Given the description of an element on the screen output the (x, y) to click on. 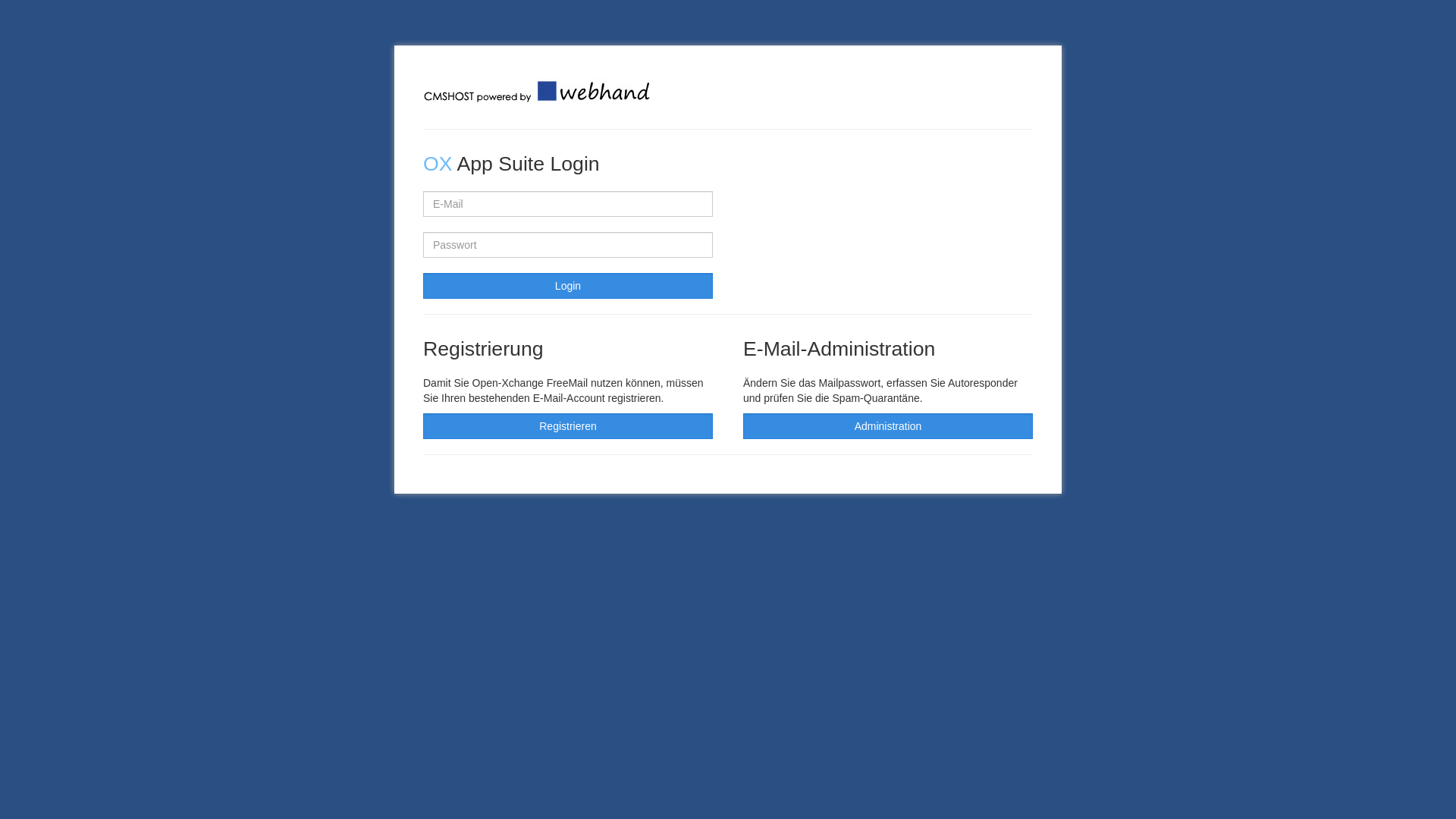
Registrieren Element type: text (567, 426)
Administration Element type: text (887, 426)
